Given the description of an element on the screen output the (x, y) to click on. 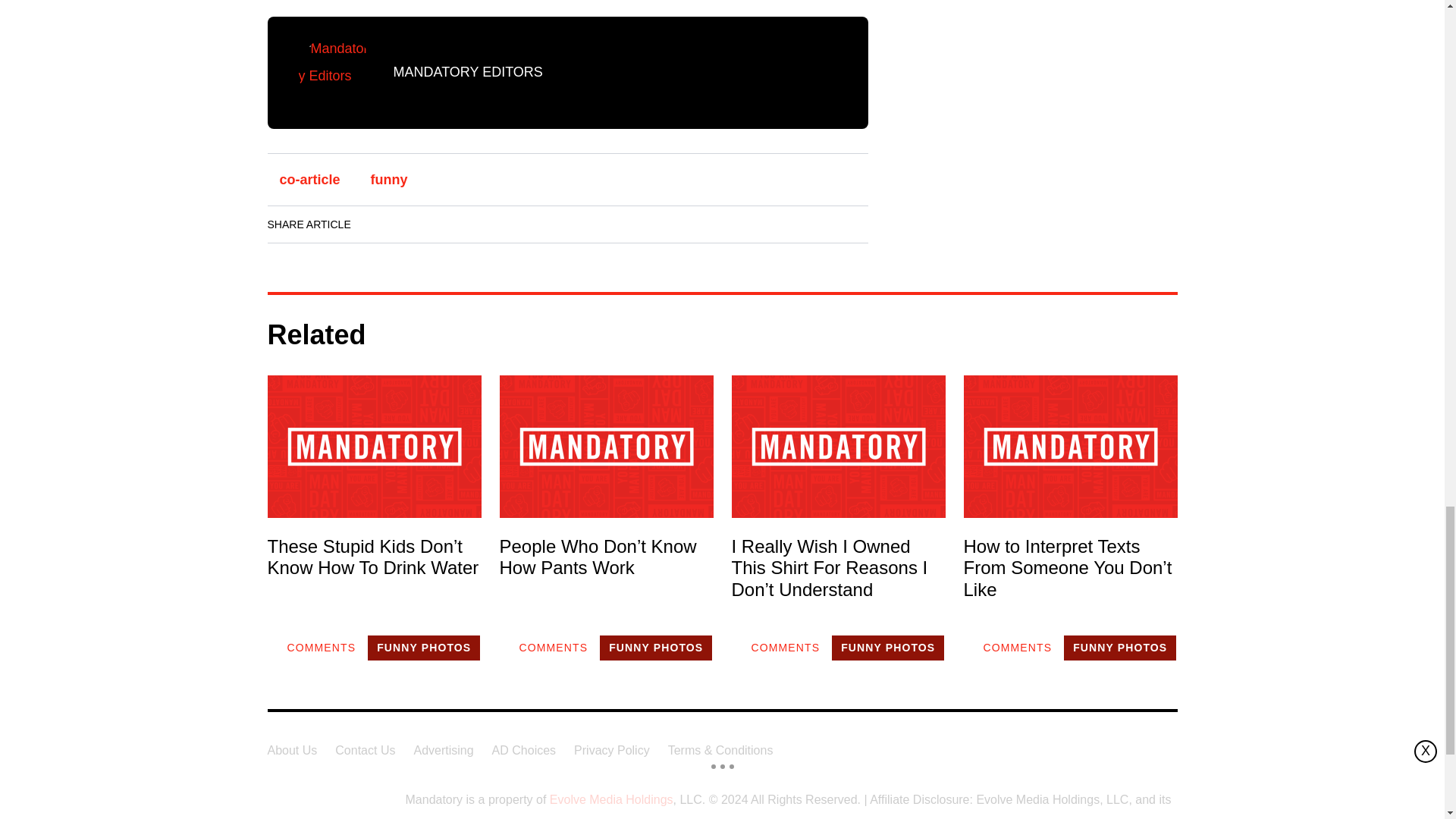
LinkedIn (420, 224)
MANDATORY EDITORS (467, 71)
Facebook (377, 224)
co-article (309, 179)
Pinterest (505, 224)
Twitter (463, 224)
funny (389, 179)
